Given the description of an element on the screen output the (x, y) to click on. 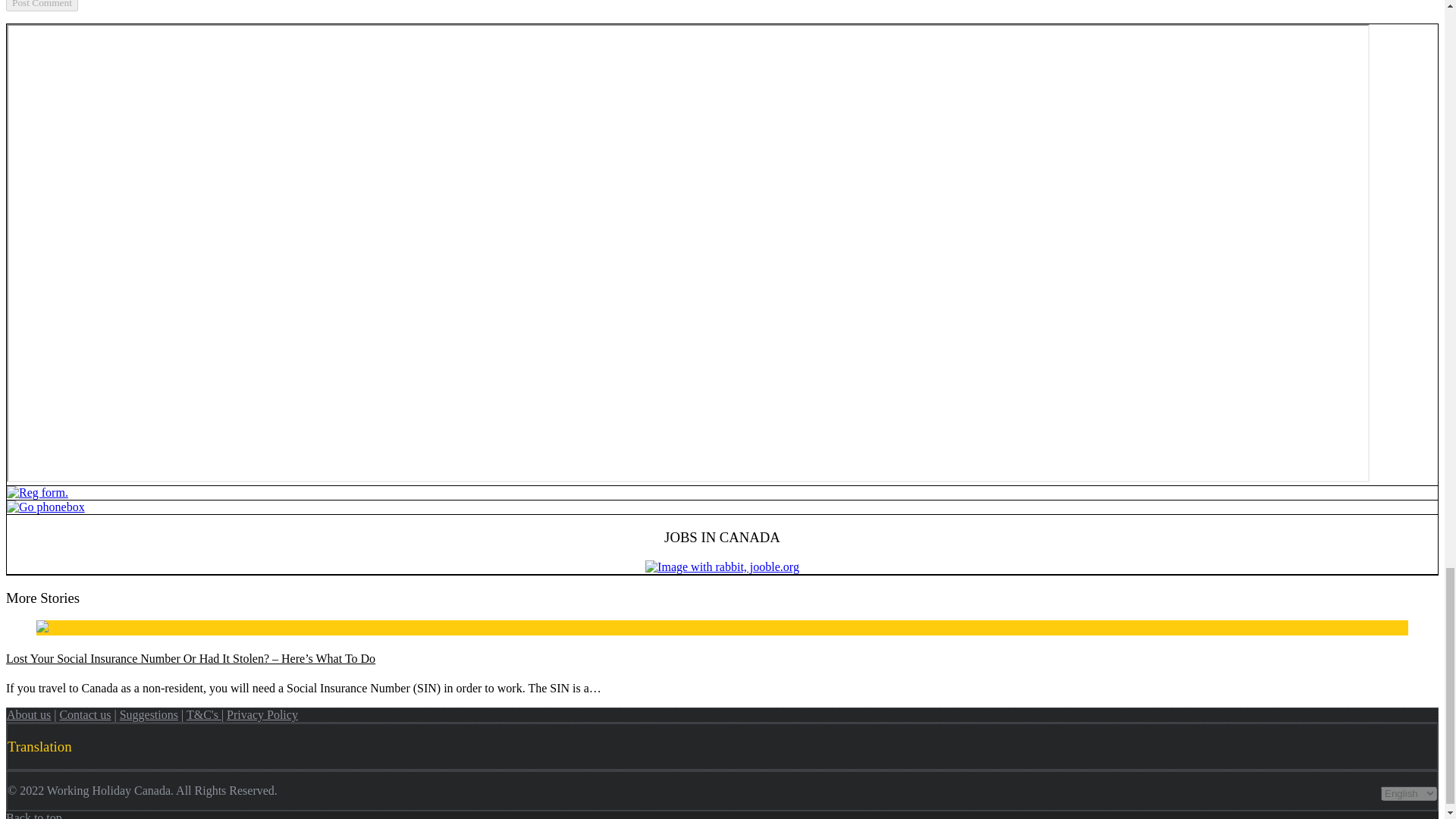
Post Comment (41, 5)
registratoin form (37, 492)
Go phonebox (45, 506)
